Given the description of an element on the screen output the (x, y) to click on. 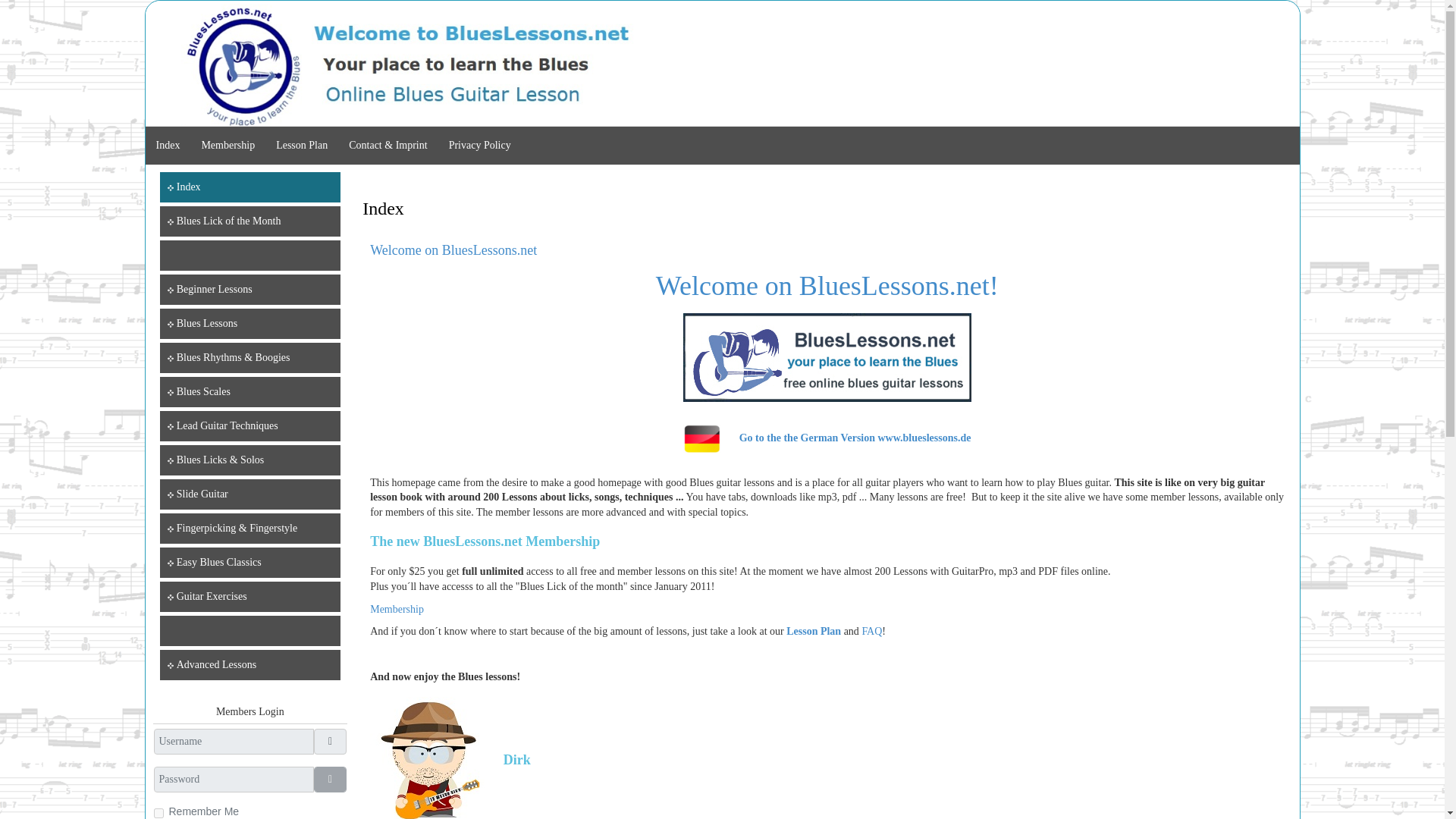
Blues Lessons (250, 323)
Easy Blues Classics (250, 562)
Lesson Plan (301, 145)
Lesson Plan (814, 631)
FAQ (871, 631)
Beginner Lessons (250, 289)
Index (250, 186)
Guitar Exercises (250, 596)
Welcome on BluesLessons.net (453, 249)
yes (157, 813)
Lead Guitar Techniques (250, 426)
Username (330, 741)
Show Password (330, 779)
Go to the the German Version www.blueslessons.de (855, 437)
Advanced Lessons (250, 665)
